Given the description of an element on the screen output the (x, y) to click on. 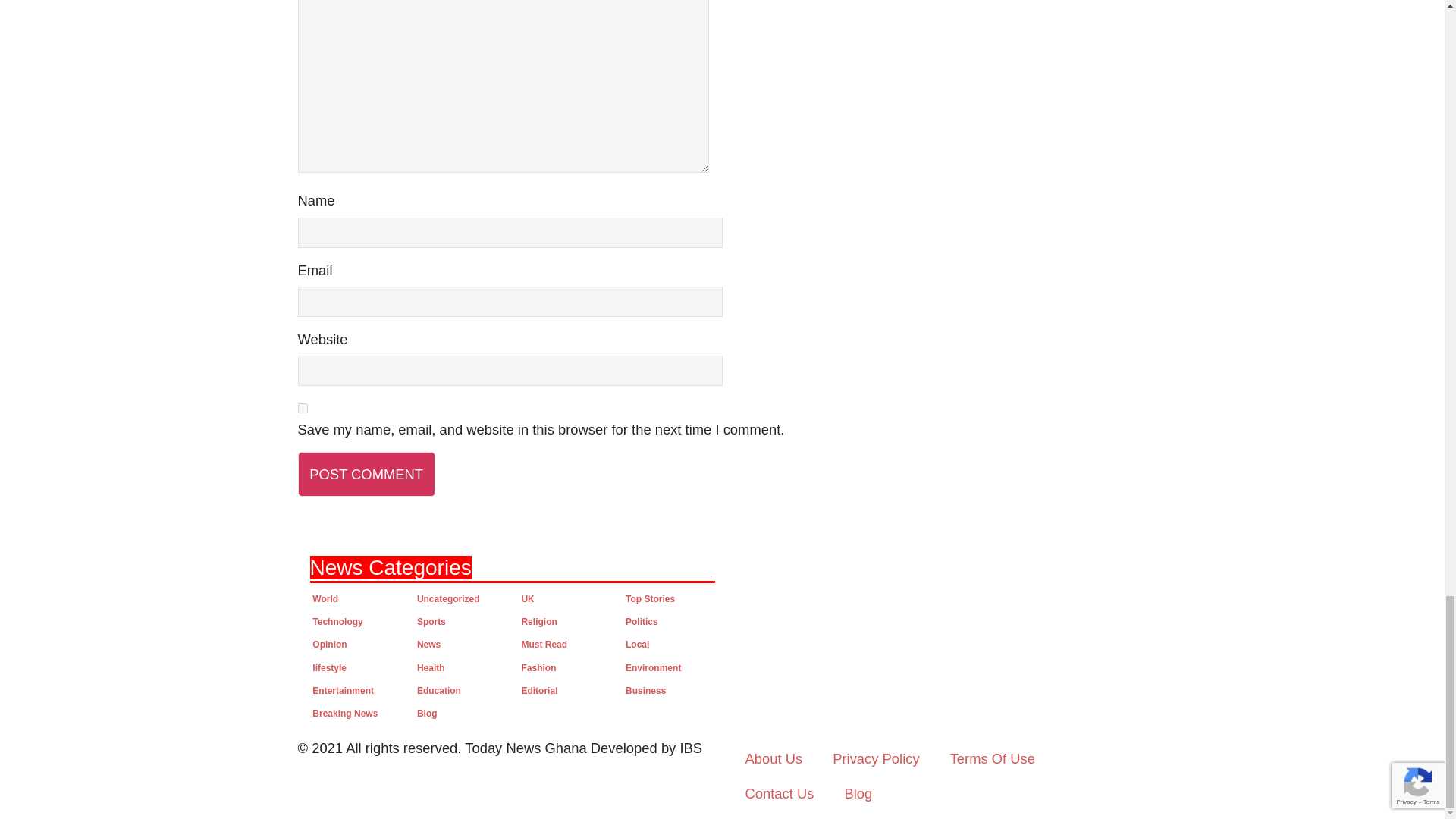
yes (302, 408)
Post Comment (365, 474)
